Given the description of an element on the screen output the (x, y) to click on. 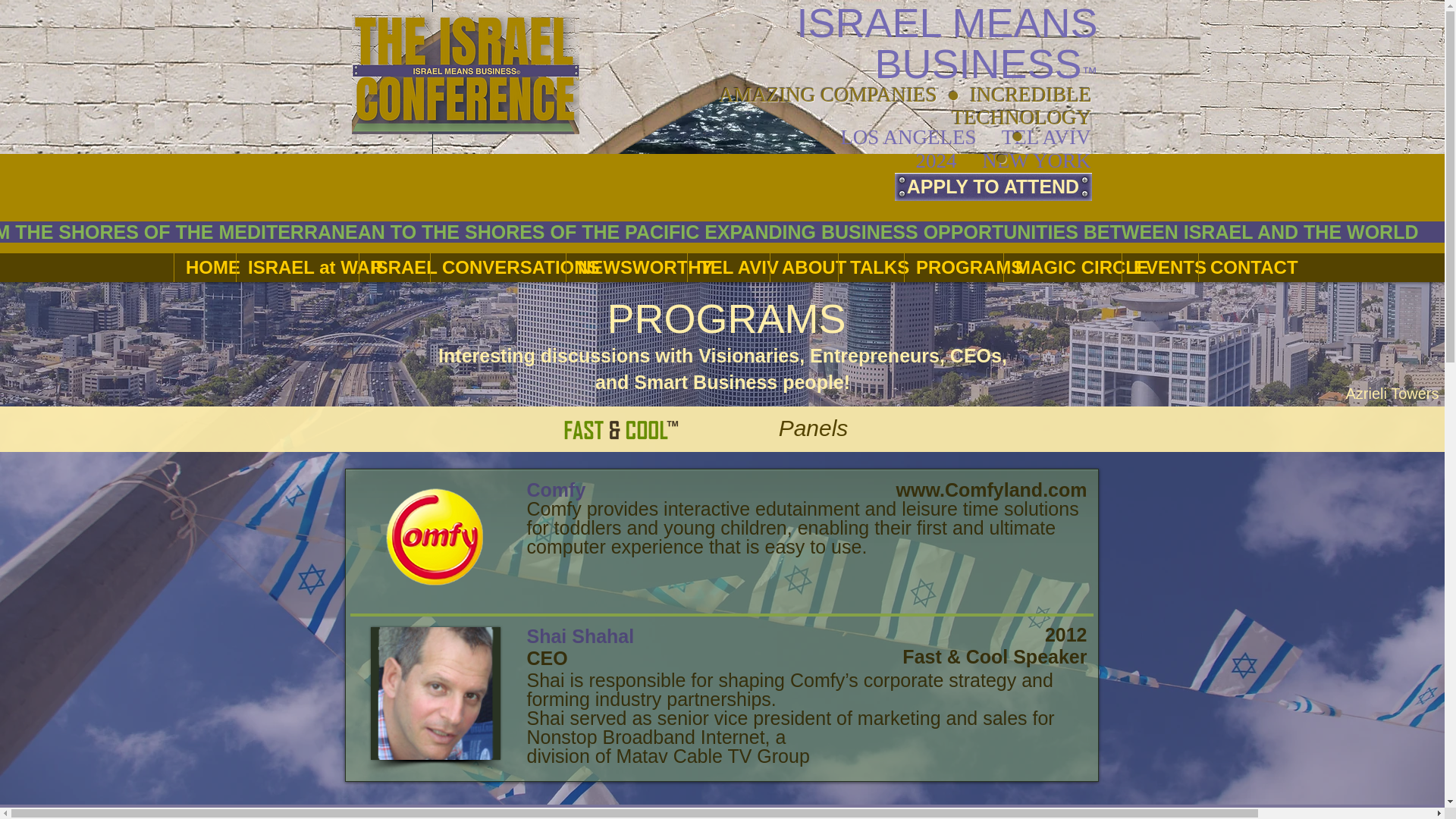
PROGRAMS (953, 267)
TEL AVIV (728, 267)
TALKS (871, 267)
NEWSWORTHY (626, 267)
Shai Shahal.png (434, 693)
Comfy.png (434, 536)
EVENTS (1159, 267)
CONTACT (1241, 267)
ISRAEL (393, 267)
APPLY TO ATTEND (993, 186)
ABOUT (804, 267)
ISRAEL at WAR (296, 267)
CONVERSATIONS (497, 267)
www.Comfyland.com (991, 489)
MAGIC CIRCLE (1062, 267)
